Given the description of an element on the screen output the (x, y) to click on. 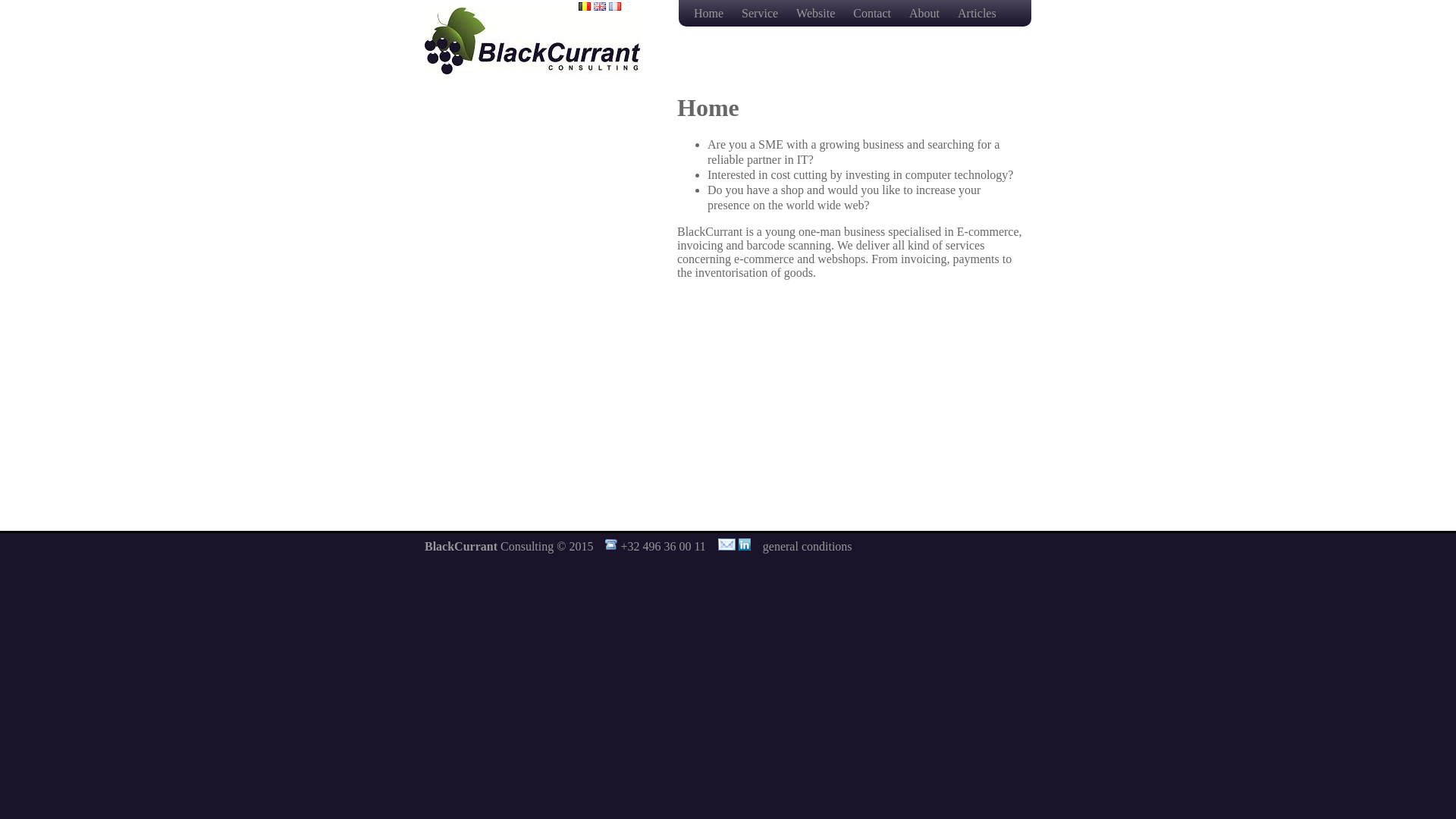
Articles Element type: text (976, 13)
About Element type: text (925, 13)
Home Element type: text (710, 13)
Website Element type: text (816, 13)
Service Element type: text (760, 13)
Contact Element type: text (873, 13)
